Given the description of an element on the screen output the (x, y) to click on. 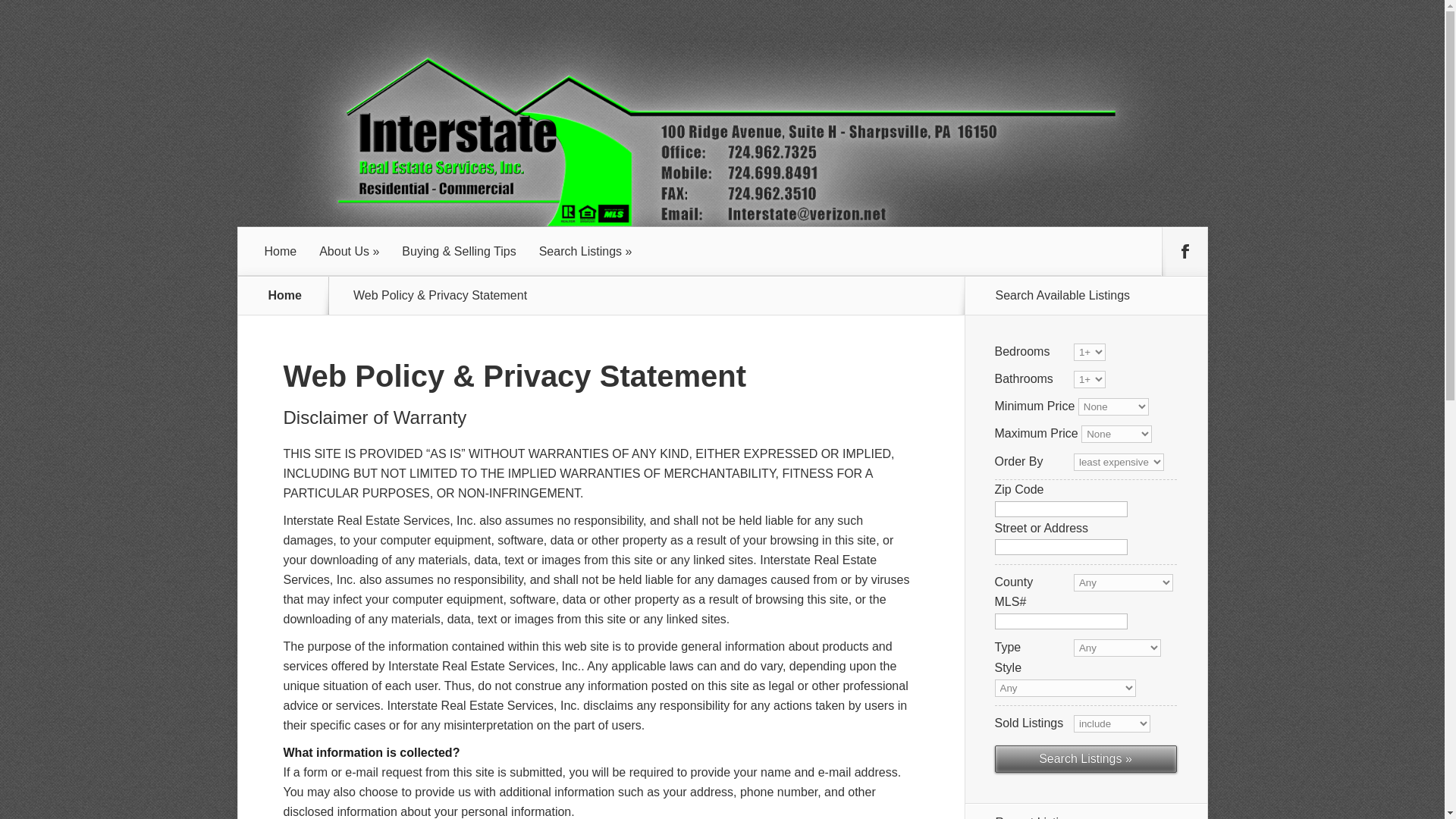
Follow us on Facebook (1184, 251)
About Us (348, 251)
Home (285, 295)
Search Listings (585, 251)
Home (280, 251)
